Given the description of an element on the screen output the (x, y) to click on. 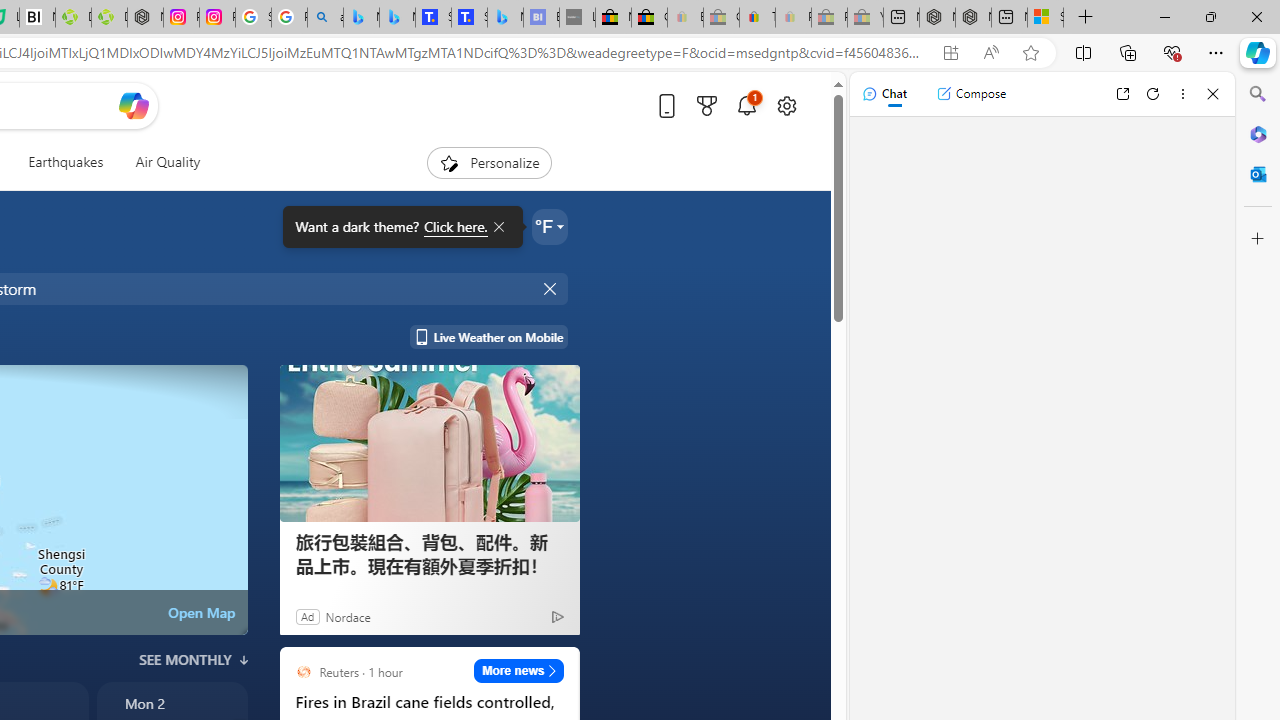
More news (518, 670)
Class: BubbleMessageCloseIcon-DS-EntryPoint1-1 (497, 227)
Compose (971, 93)
Payments Terms of Use | eBay.com - Sleeping (793, 17)
Personalize (488, 162)
Weather settings Want a dark theme?Click here. (549, 226)
Open Map (201, 612)
Notifications (746, 105)
Nordace - Nordace Edin Collection (145, 17)
